Given the description of an element on the screen output the (x, y) to click on. 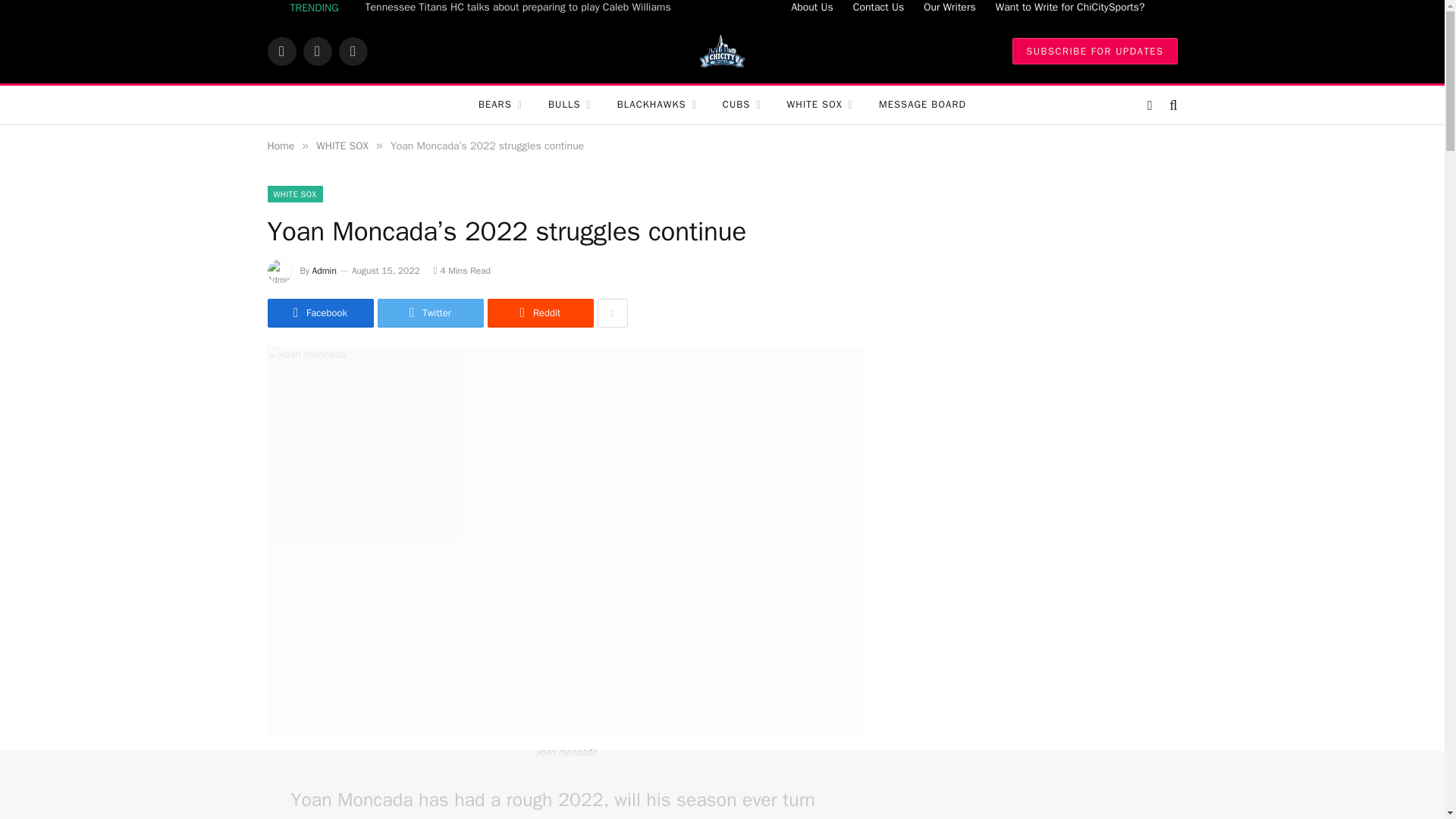
Show More Social Sharing (611, 312)
Posts by Admin (324, 270)
Share on Reddit (539, 312)
Switch to Dark Design - easier on eyes. (1149, 105)
Share on Twitter (430, 312)
Share on Facebook (319, 312)
